Given the description of an element on the screen output the (x, y) to click on. 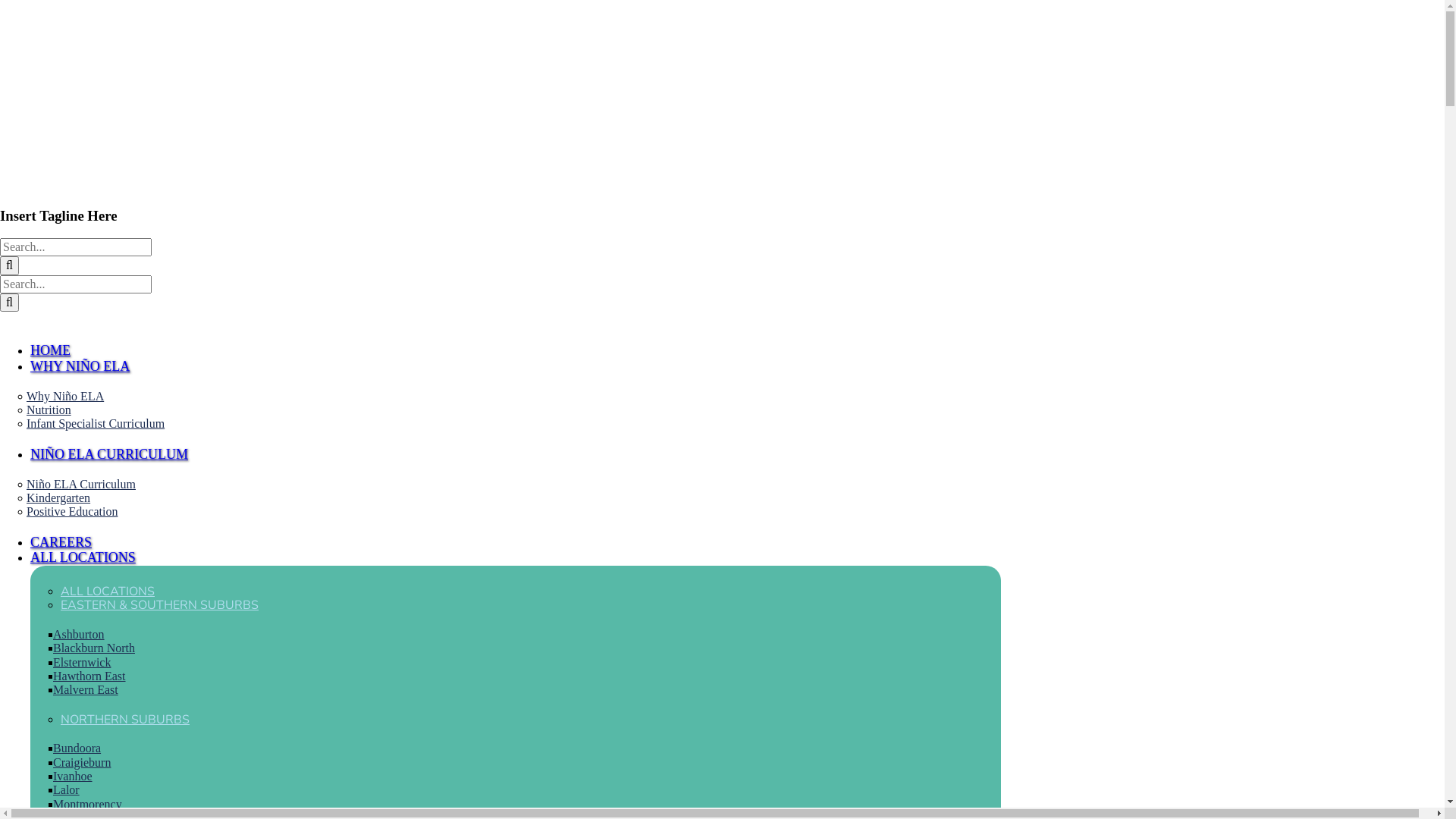
Nutrition Element type: text (50, 409)
EASTERN & SOUTHERN SUBURBS Element type: text (159, 604)
Craigieburn Element type: text (85, 762)
Hawthorn East Element type: text (92, 675)
NORTHERN SUBURBS Element type: text (124, 719)
Ashburton Element type: text (82, 633)
Infant Specialist Curriculum Element type: text (97, 423)
Positive Education Element type: text (73, 511)
Blackburn North Element type: text (97, 647)
Bundoora Element type: text (80, 747)
Kindergarten Element type: text (60, 497)
ALL LOCATIONS Element type: text (107, 591)
HOME Element type: text (50, 349)
Ivanhoe Element type: text (76, 775)
Malvern East Element type: text (89, 689)
Lalor Element type: text (69, 789)
Elsternwick Element type: text (85, 661)
CAREERS Element type: text (60, 541)
Montmorency Element type: text (91, 803)
ALL LOCATIONS Element type: text (82, 556)
